Given the description of an element on the screen output the (x, y) to click on. 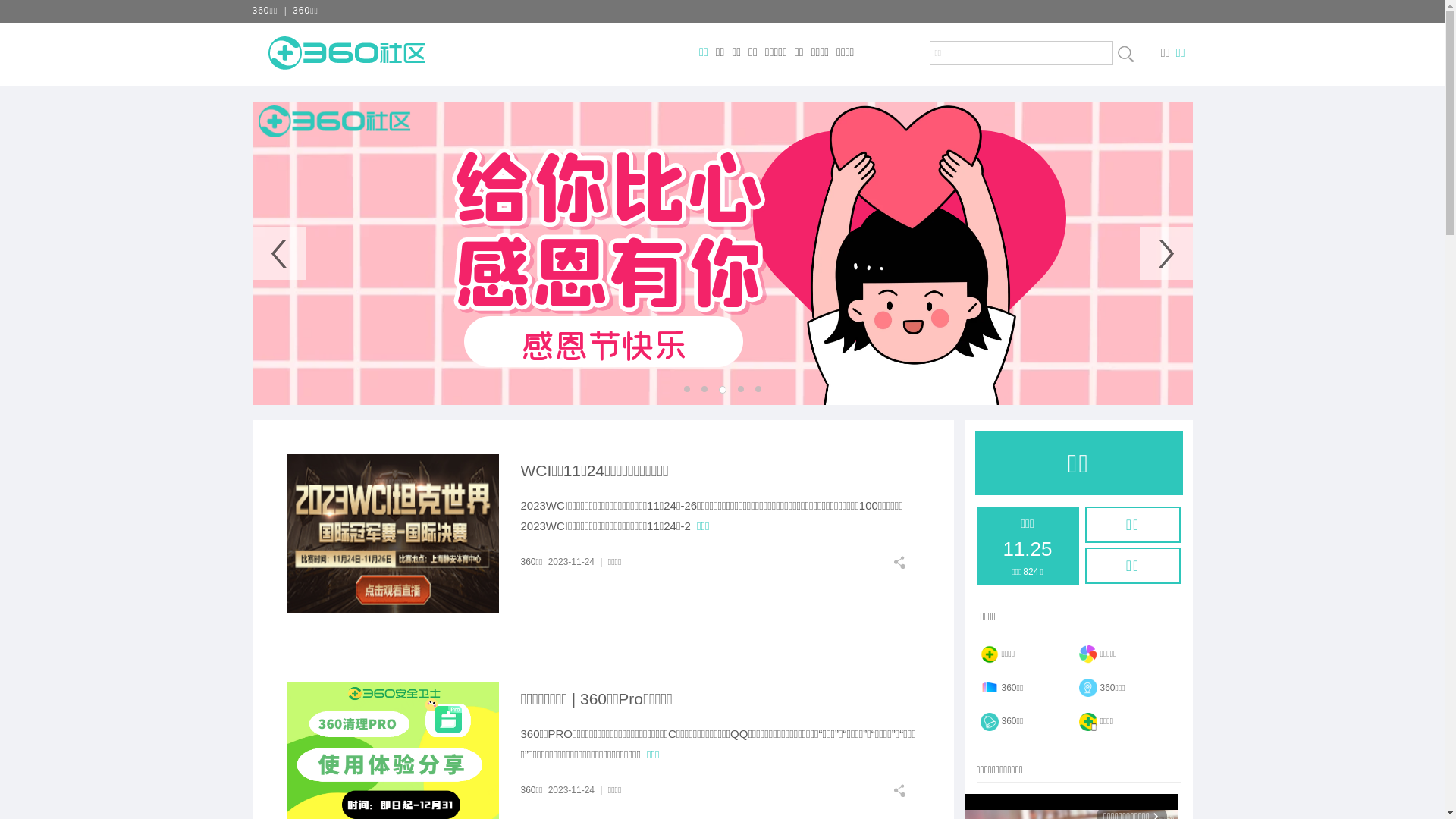
  Element type: text (905, 562)
  Element type: text (905, 790)
  Element type: text (1125, 53)
